Given the description of an element on the screen output the (x, y) to click on. 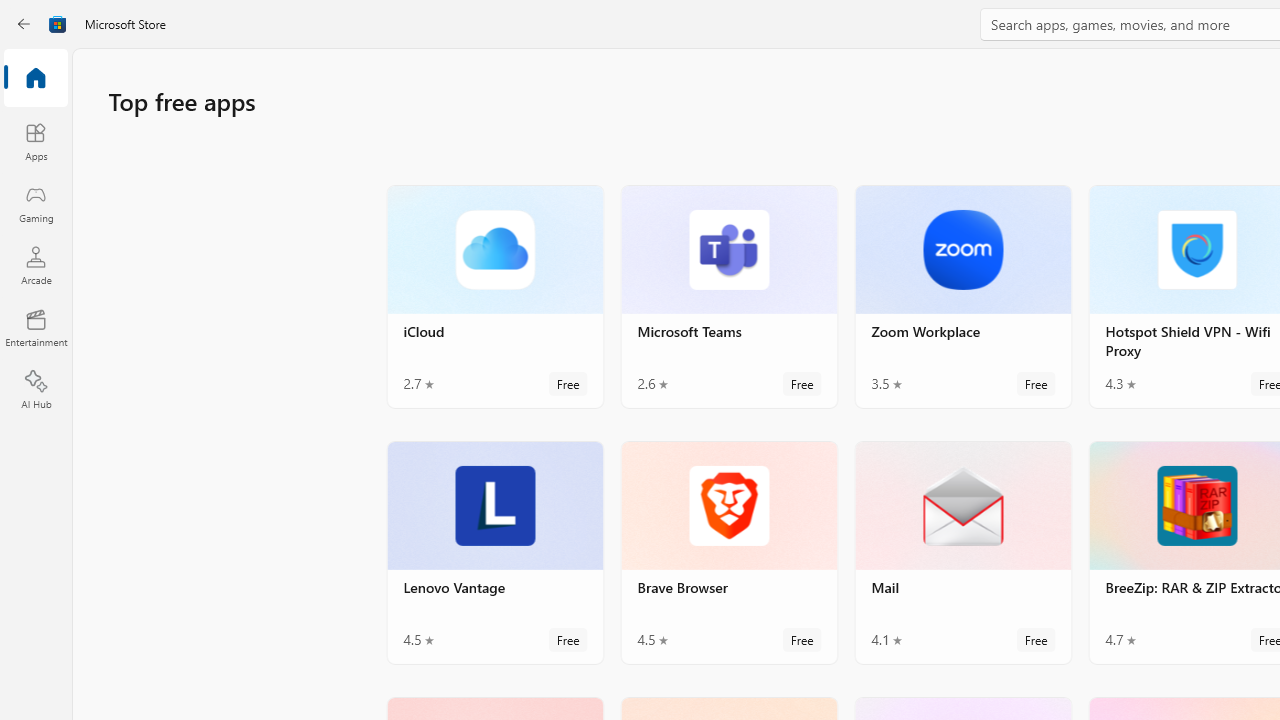
Class: Image (58, 24)
Gaming (35, 203)
Home (35, 79)
Mail. Average rating of 4.1 out of five stars. Free   (962, 551)
Arcade (35, 265)
Back (24, 24)
Apps (35, 141)
Entertainment (35, 327)
AI Hub (35, 390)
iCloud. Average rating of 2.7 out of five stars. Free   (495, 296)
